Given the description of an element on the screen output the (x, y) to click on. 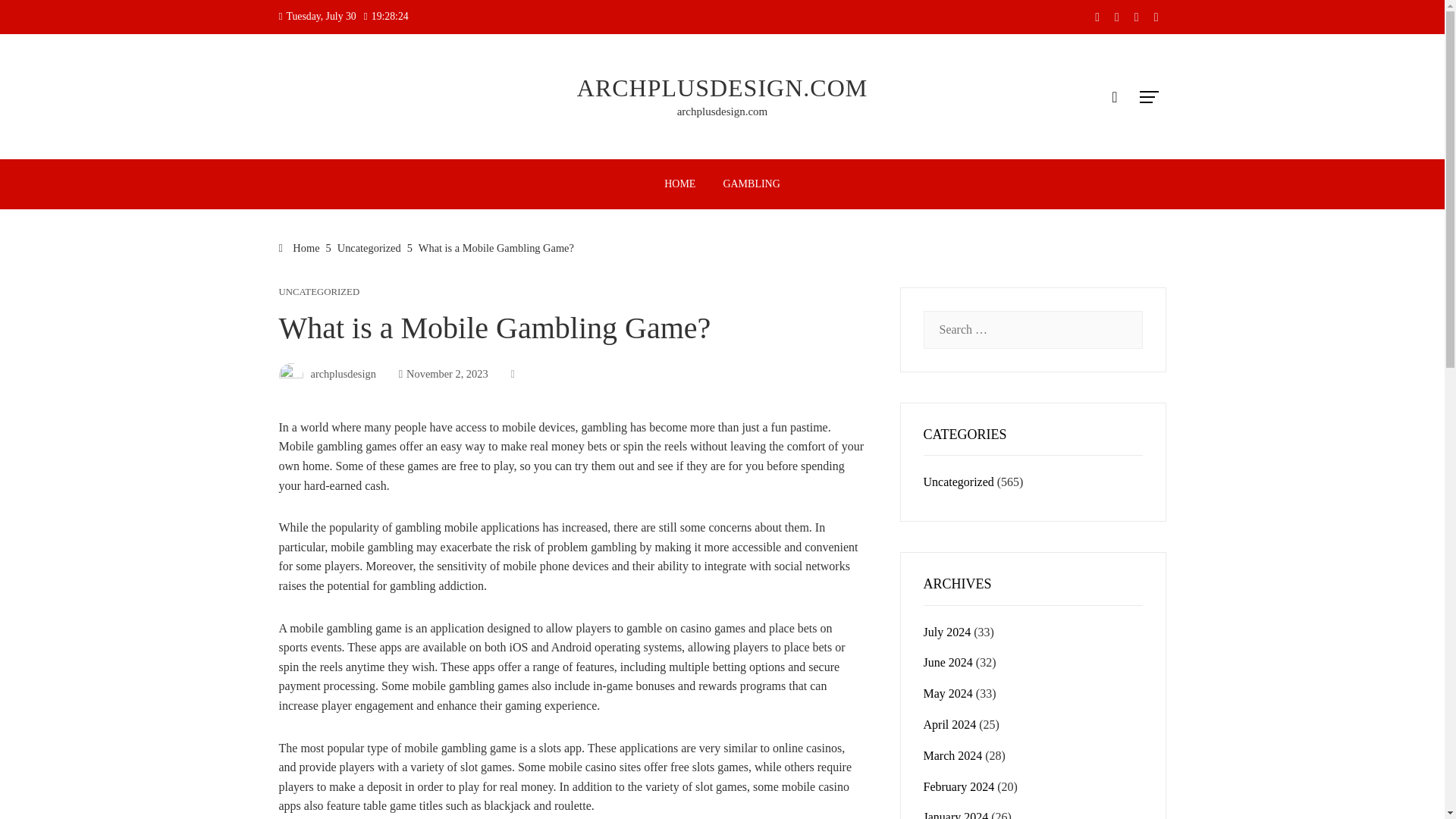
GAMBLING (750, 183)
April 2024 (949, 724)
January 2024 (955, 814)
HOME (679, 183)
June 2024 (947, 662)
May 2024 (947, 693)
Uncategorized (958, 481)
archplusdesign.com (722, 111)
ARCHPLUSDESIGN.COM (721, 87)
Search (35, 18)
Home (299, 247)
Uncategorized (369, 247)
July 2024 (947, 631)
February 2024 (958, 786)
UNCATEGORIZED (319, 292)
